Given the description of an element on the screen output the (x, y) to click on. 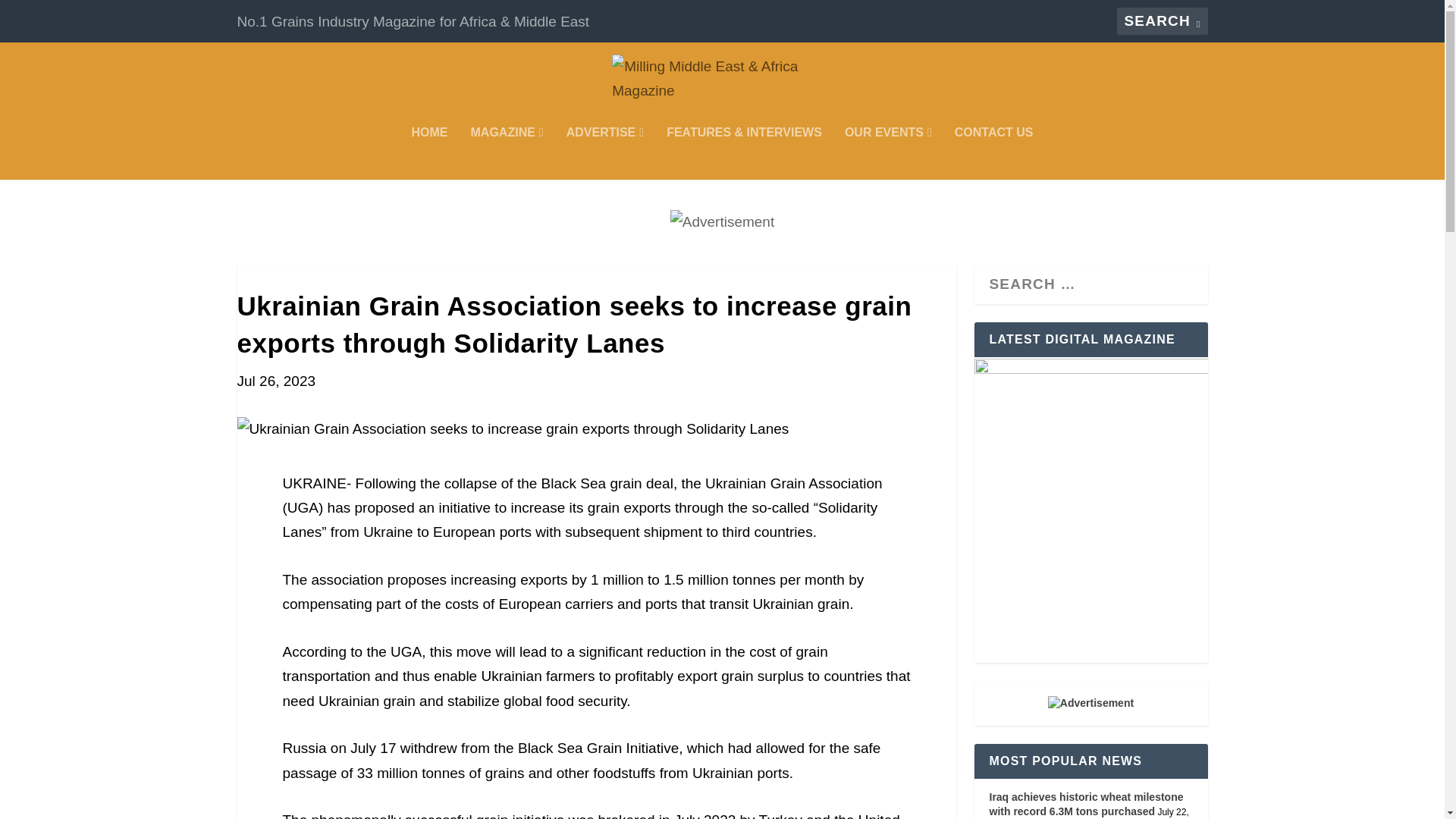
ADVERTISE (604, 152)
CONTACT US (994, 152)
Search for: (1161, 21)
LATEST DIGITAL MAGAZINE (1090, 510)
MAGAZINE (506, 152)
OUR EVENTS (887, 152)
HOME (430, 152)
